Given the description of an element on the screen output the (x, y) to click on. 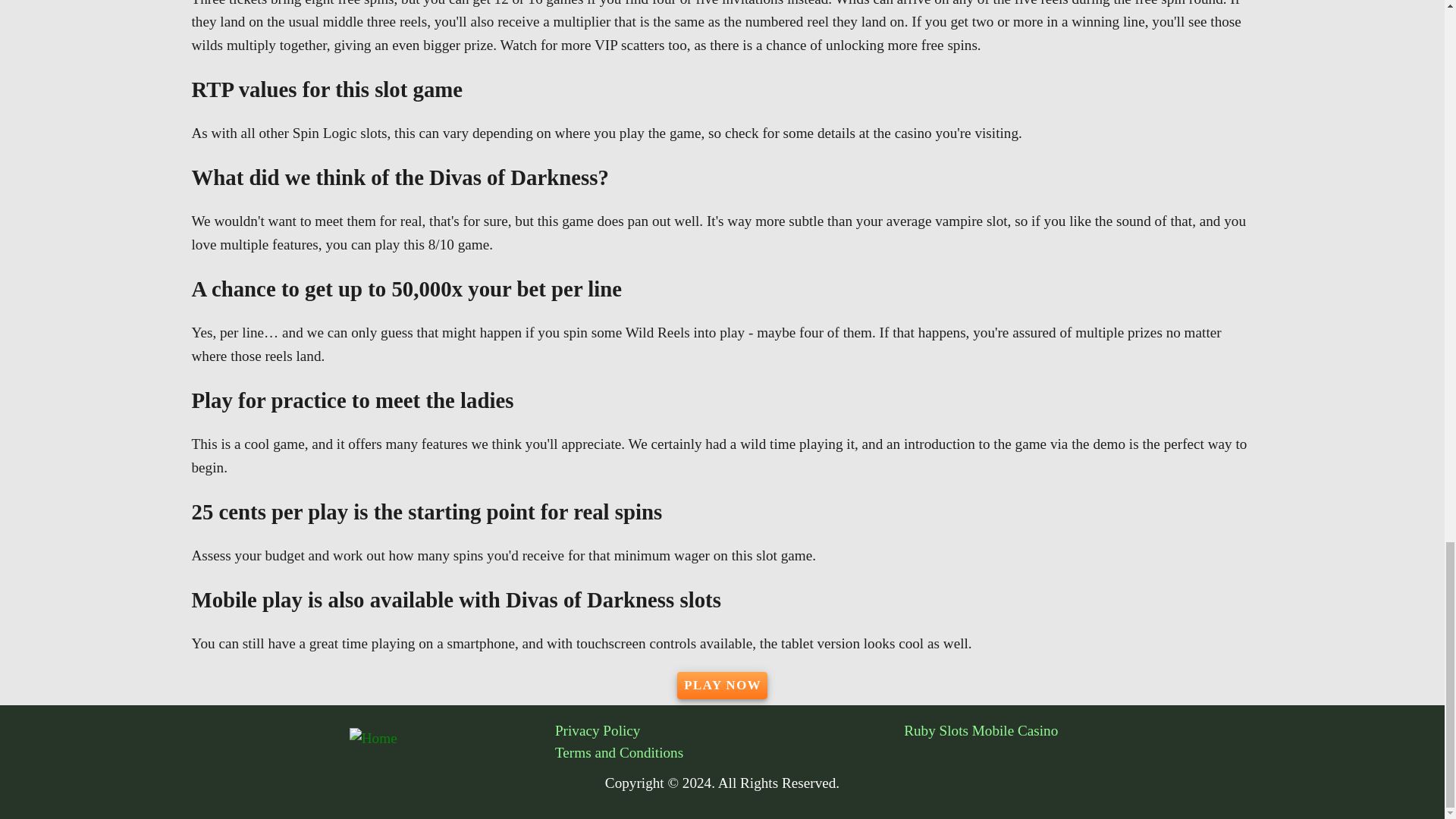
Ruby Slots Mobile Casino (1078, 731)
PLAY NOW (722, 685)
Terms and Conditions (729, 753)
Privacy Policy (729, 731)
